Given the description of an element on the screen output the (x, y) to click on. 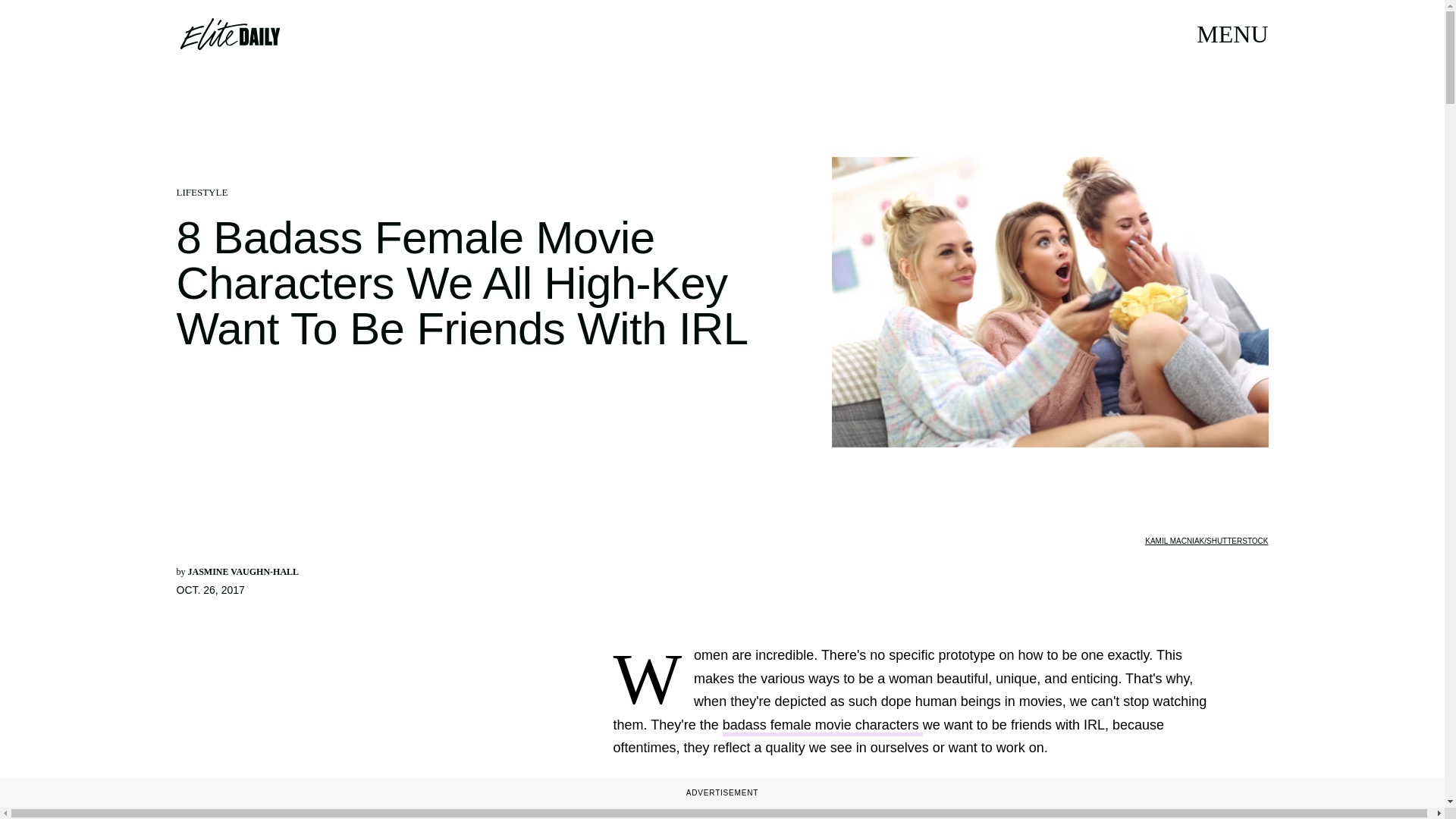
Elite Daily (229, 33)
JASMINE VAUGHN-HALL (243, 571)
badass female movie characters (822, 726)
